Given the description of an element on the screen output the (x, y) to click on. 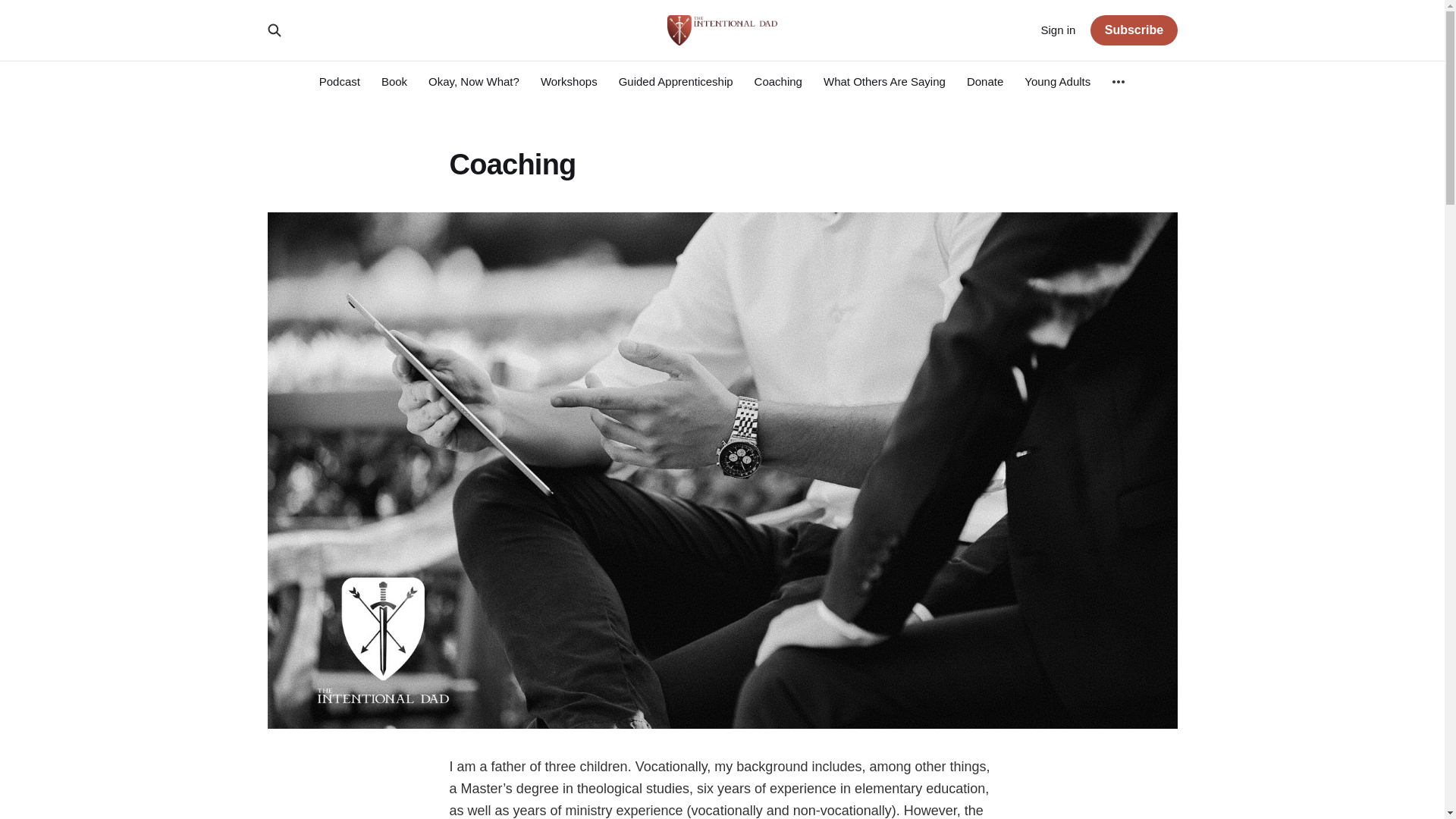
Okay, Now What? (473, 81)
Young Adults (1057, 81)
What Others Are Saying (884, 81)
Subscribe (1133, 30)
Donate (984, 81)
Coaching (778, 81)
Sign in (1058, 30)
Workshops (568, 81)
Book (394, 81)
Guided Apprenticeship (675, 81)
Podcast (338, 81)
